Given the description of an element on the screen output the (x, y) to click on. 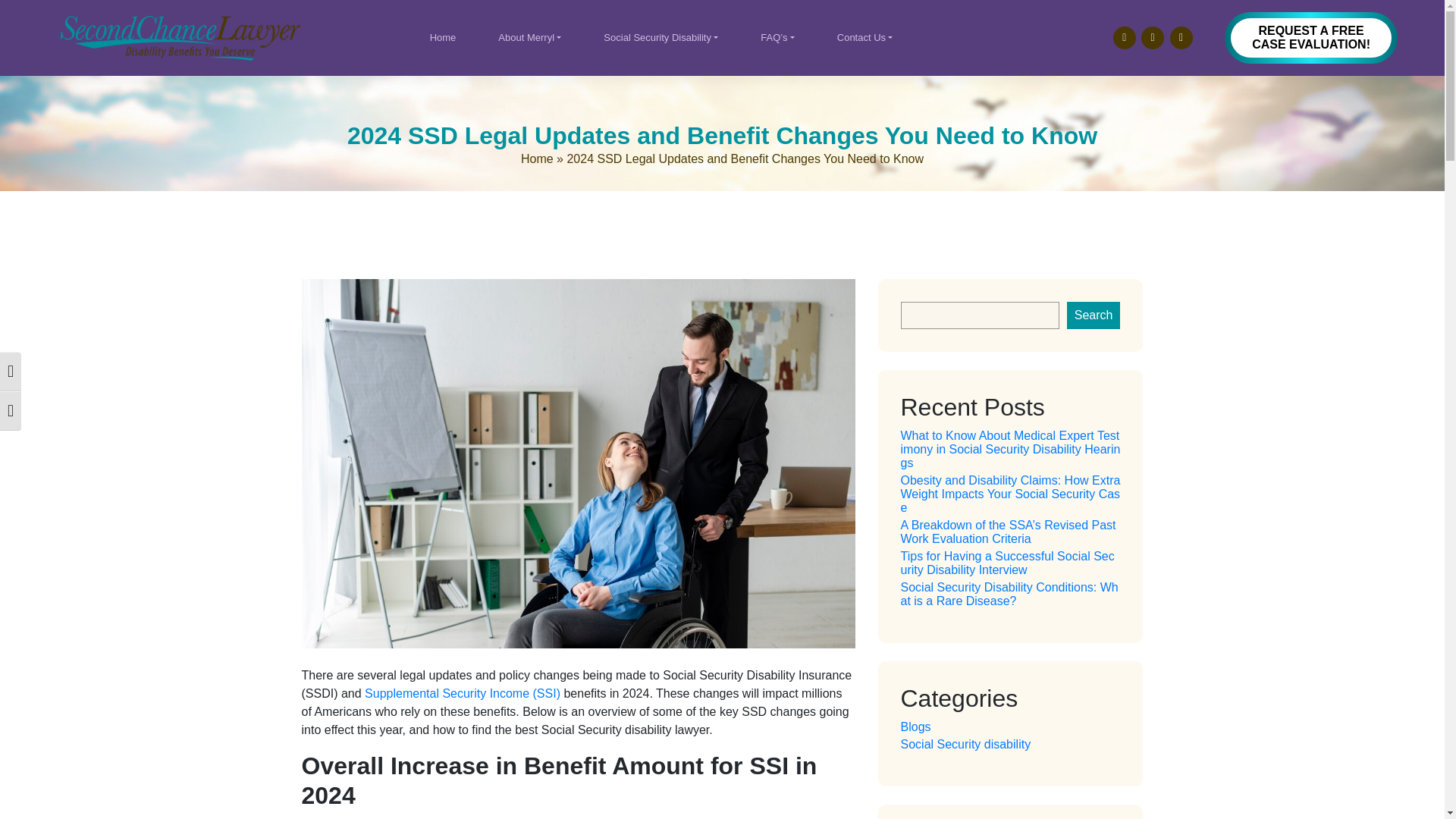
Contact Us (865, 37)
Social Security Disability (659, 37)
Home (443, 37)
About Merryl (529, 37)
Home (443, 37)
Social Security Disability (659, 37)
About Merryl (529, 37)
